Given the description of an element on the screen output the (x, y) to click on. 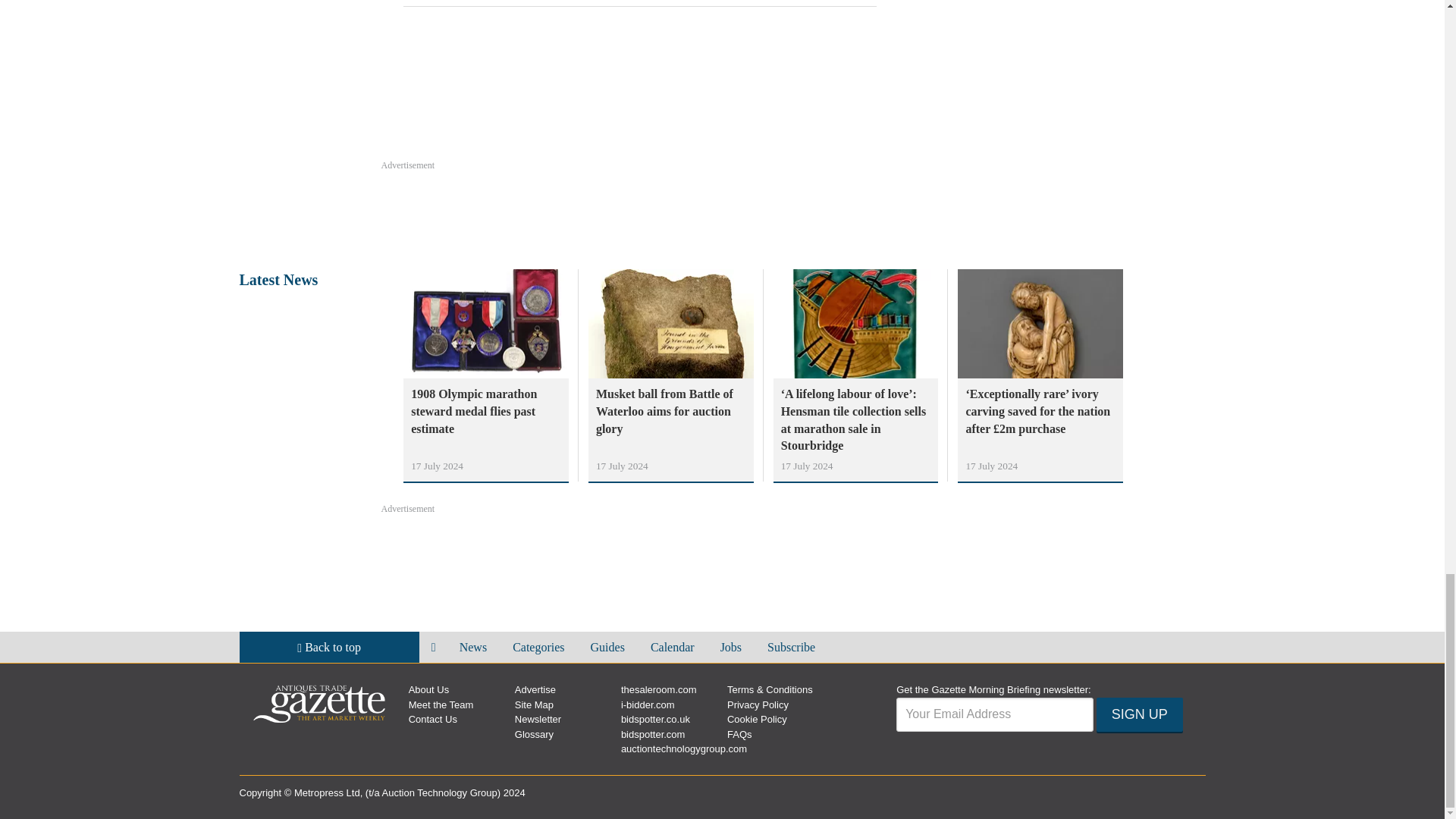
Musket ball from Battle of Waterloo aims for auction glory (671, 411)
3rd party ad content (1091, 73)
1908 Olympic marathon steward medal flies past estimate (486, 411)
3rd party ad content (721, 214)
